Given the description of an element on the screen output the (x, y) to click on. 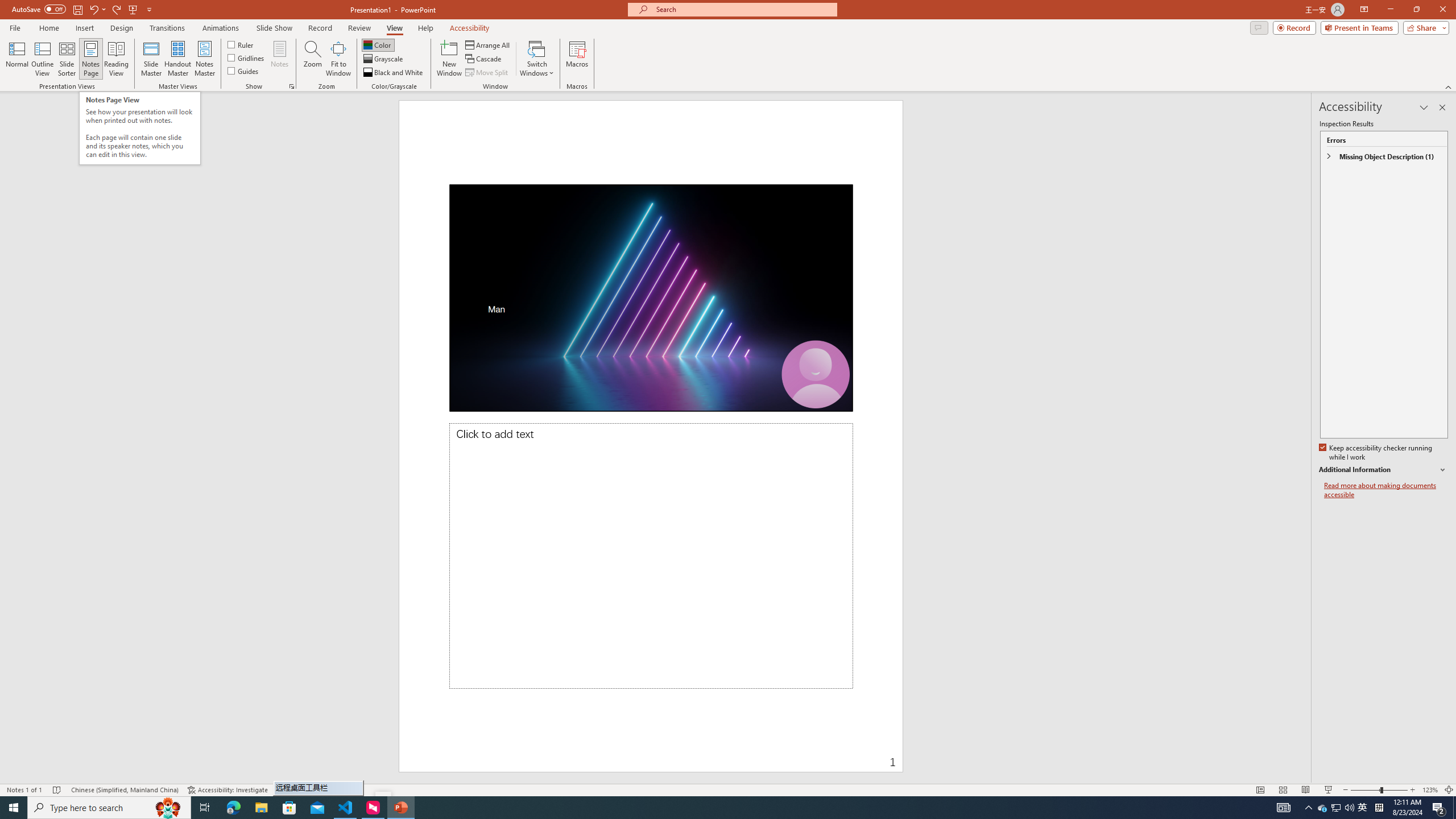
Gridlines (246, 56)
Guides (243, 69)
Macros (576, 58)
Zoom... (312, 58)
